Given the description of an element on the screen output the (x, y) to click on. 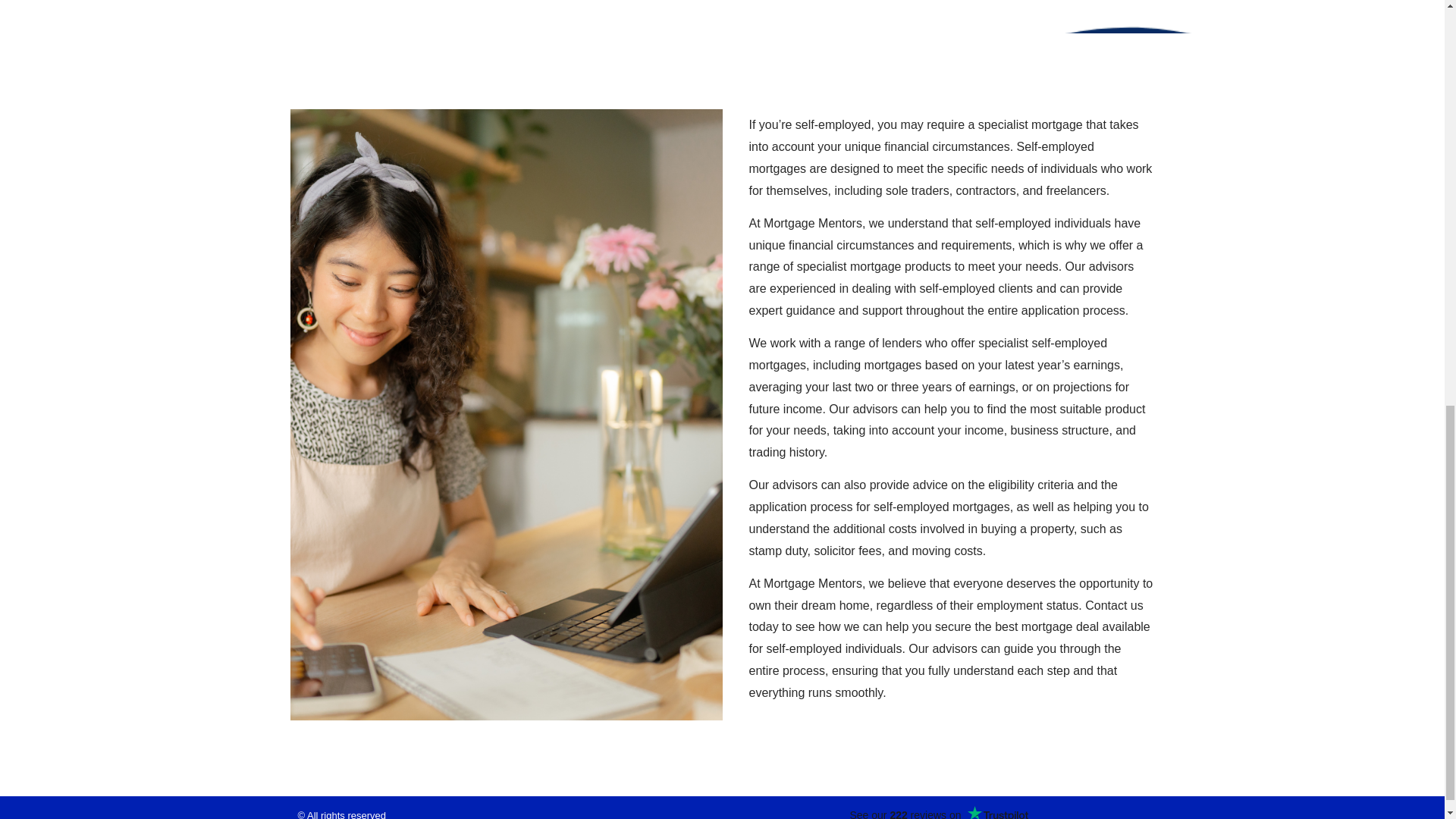
Customer reviews powered by Trustpilot (938, 812)
